Given the description of an element on the screen output the (x, y) to click on. 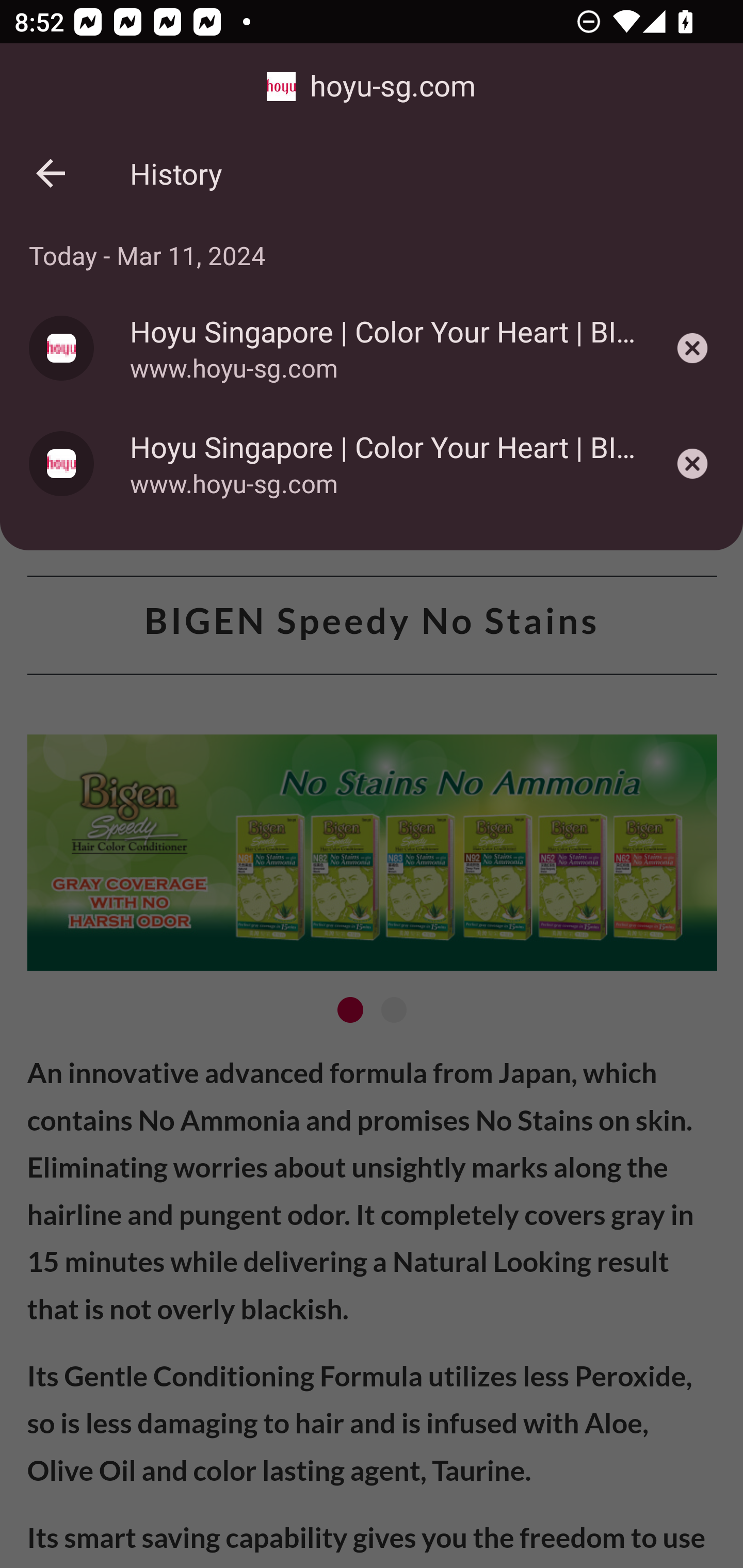
hoyu-sg.com (371, 86)
Back (50, 173)
